Given the description of an element on the screen output the (x, y) to click on. 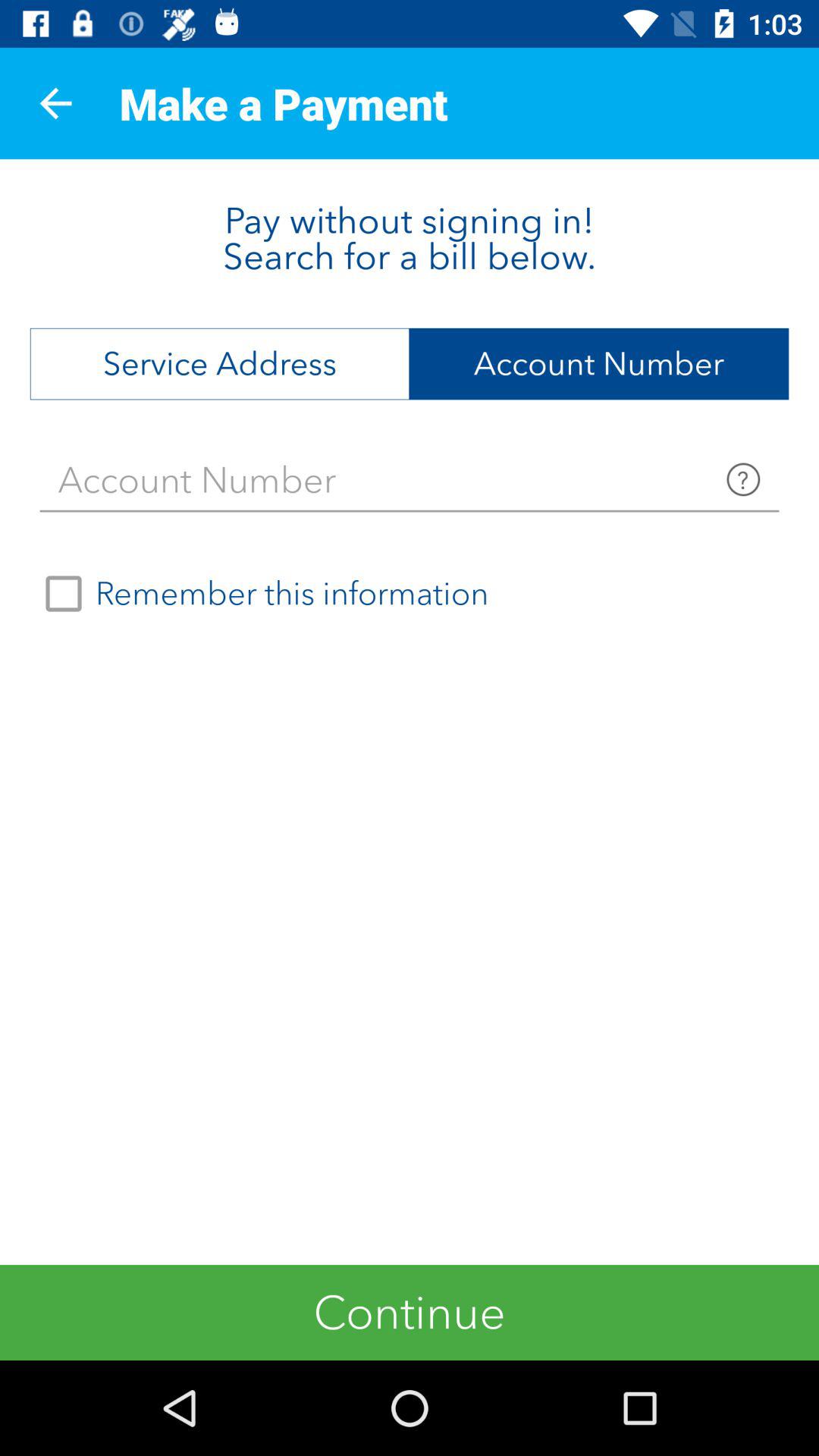
open item next to account number item (219, 363)
